Given the description of an element on the screen output the (x, y) to click on. 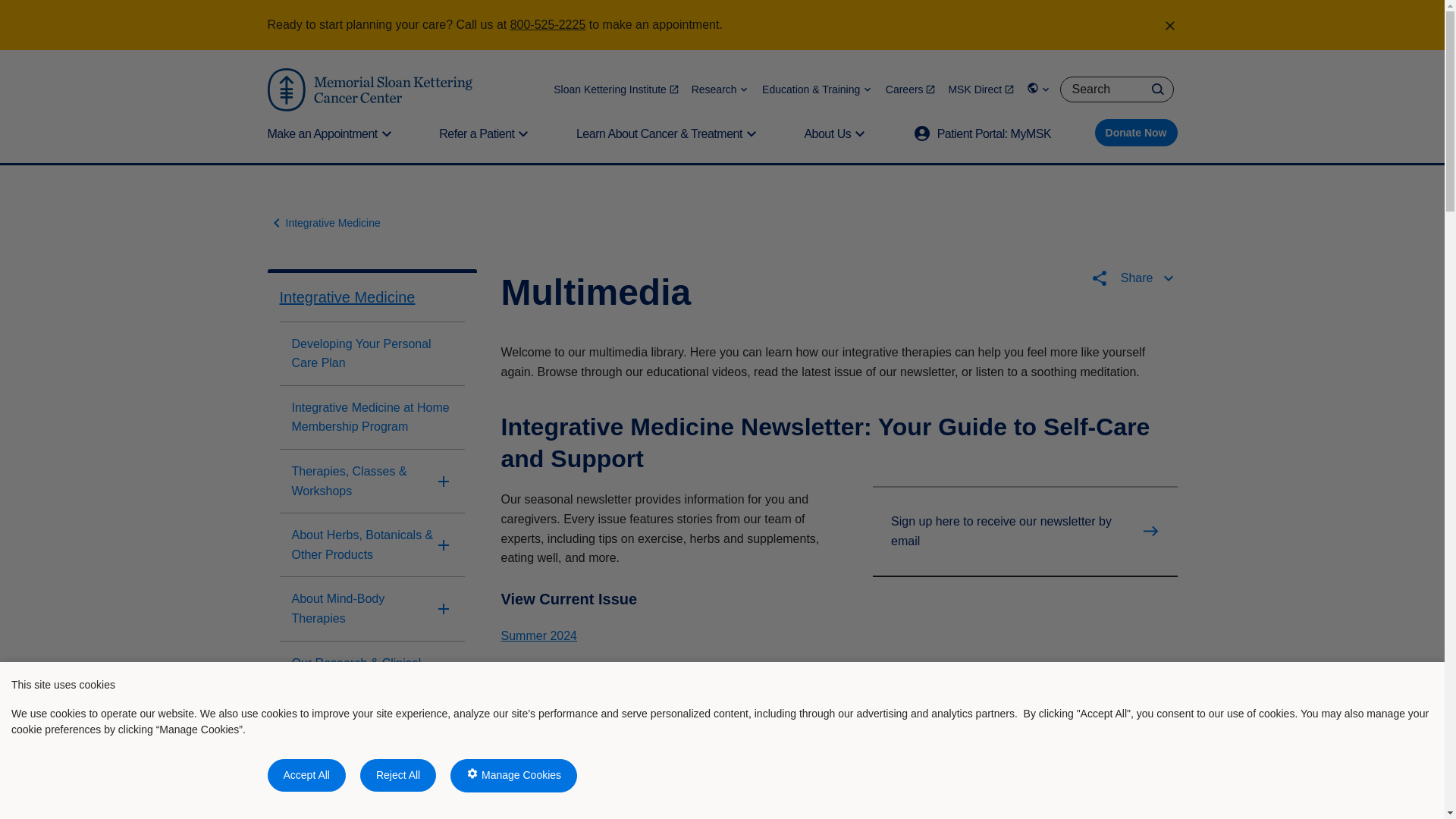
Reject All (397, 775)
Manage Cookies (512, 775)
Donate Now (1135, 132)
800-525-2225 (548, 24)
Accept All (305, 775)
Insert a query. Press enter to send (1115, 88)
Sloan Kettering Institute (615, 89)
Research (720, 89)
